Given the description of an element on the screen output the (x, y) to click on. 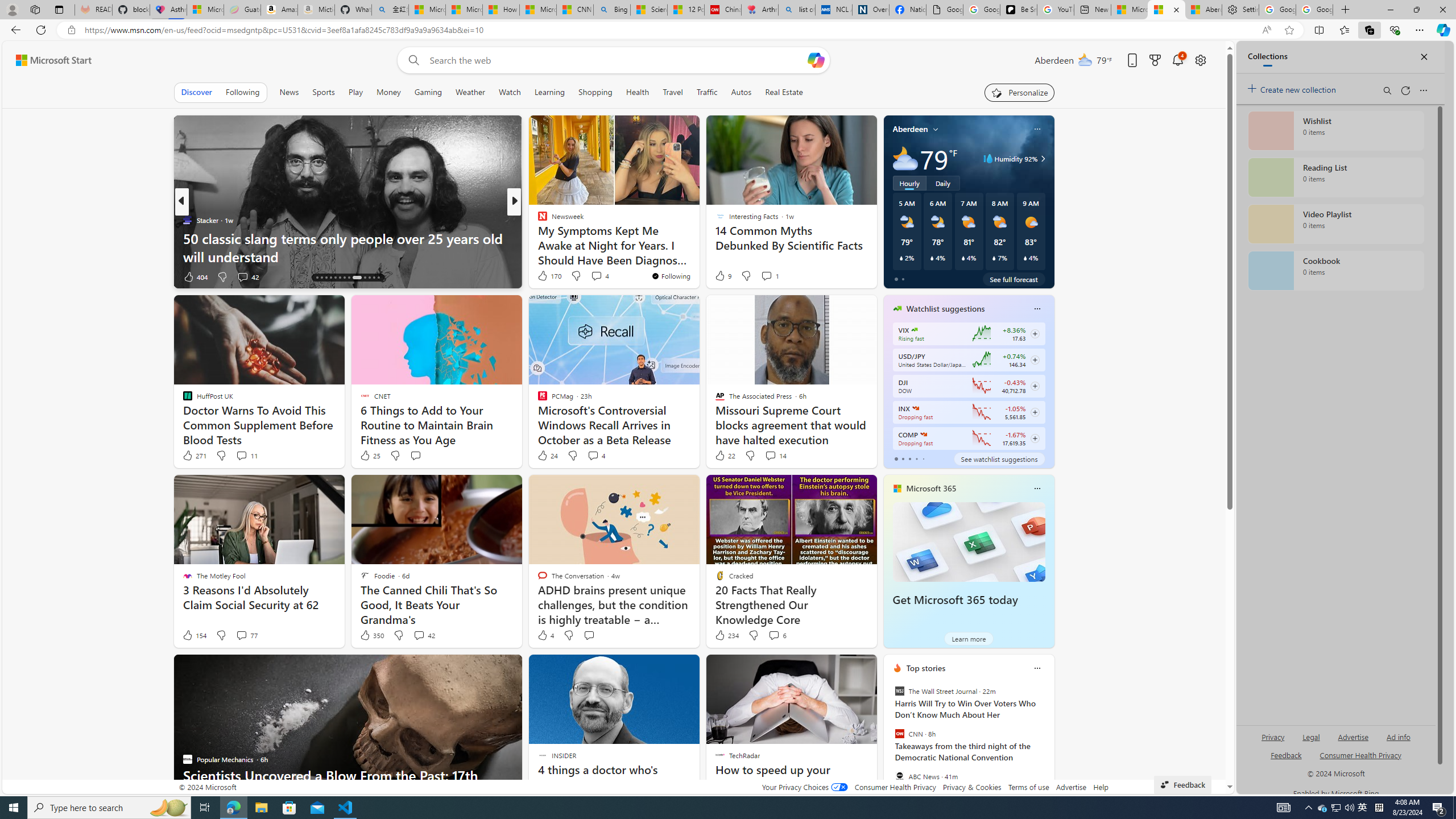
View comments 14 Comment (775, 455)
View comments 6 Comment (773, 635)
previous (888, 741)
NASDAQ (923, 434)
154 Like (193, 634)
Class: follow-button  m (1034, 438)
24 Like (546, 455)
